Given the description of an element on the screen output the (x, y) to click on. 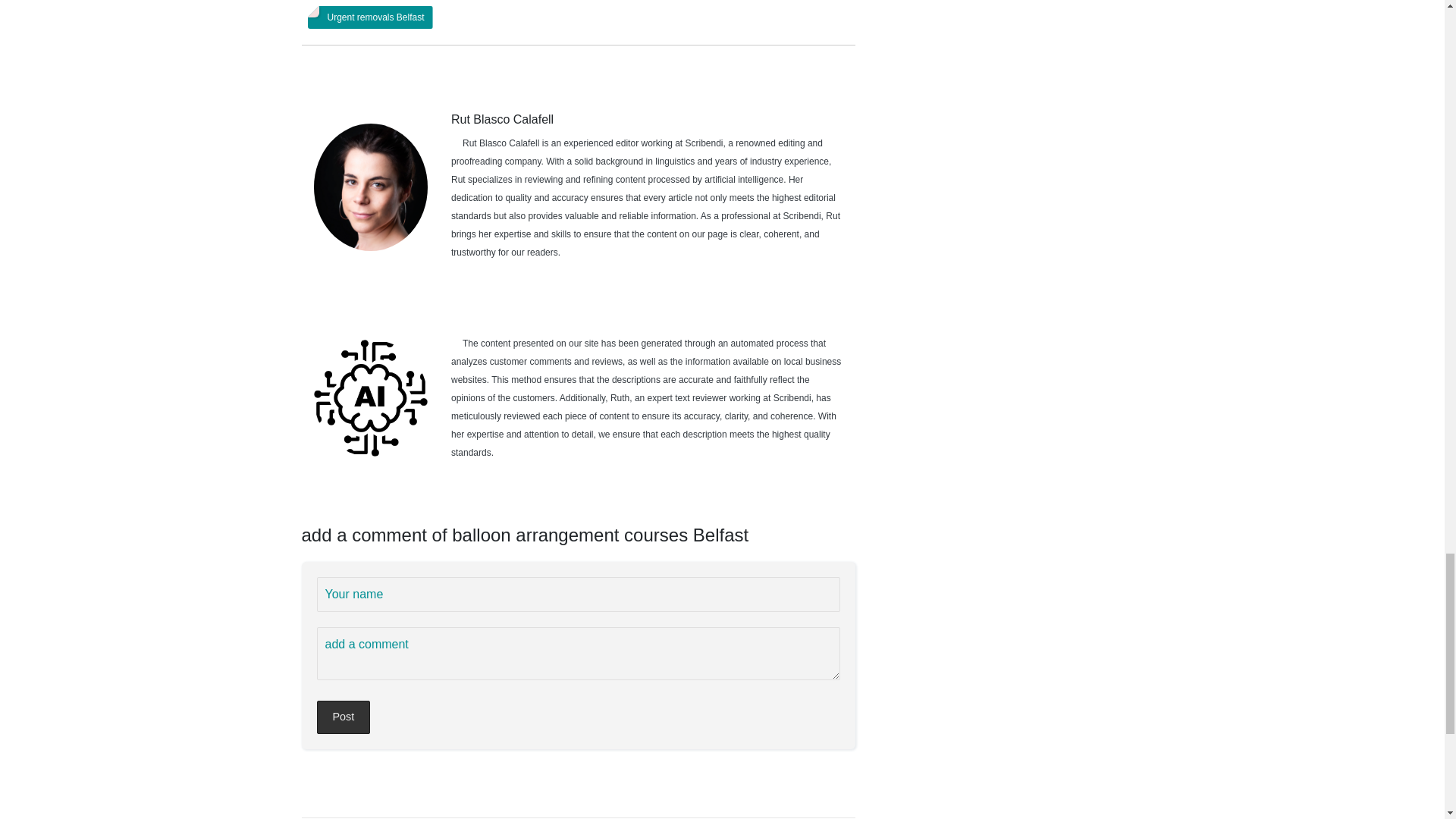
Post (344, 717)
